Given the description of an element on the screen output the (x, y) to click on. 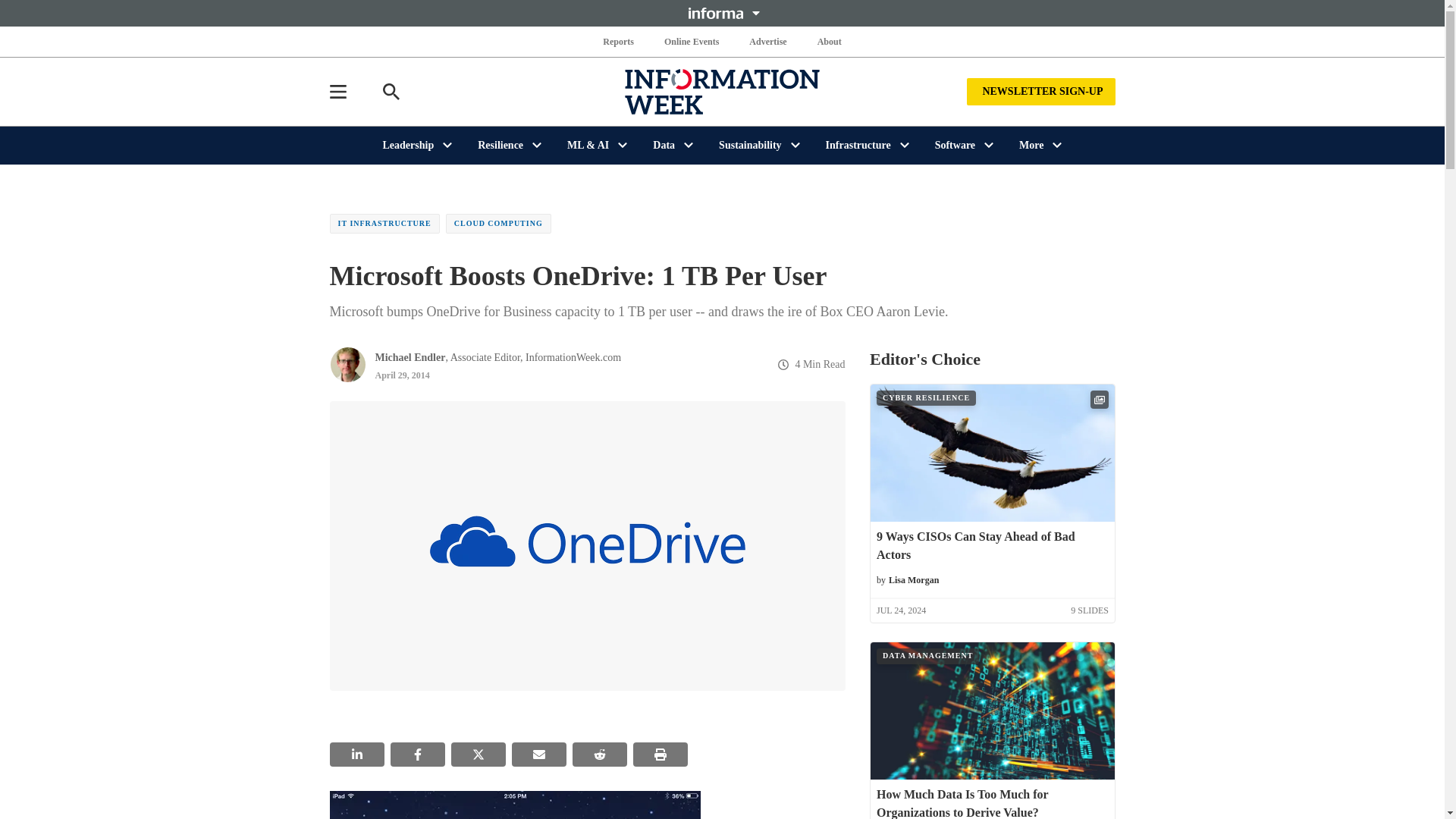
About (828, 41)
Advertise (767, 41)
NEWSLETTER SIGN-UP (1040, 90)
InformationWeek (722, 91)
Online Events (691, 41)
Reports (618, 41)
